Given the description of an element on the screen output the (x, y) to click on. 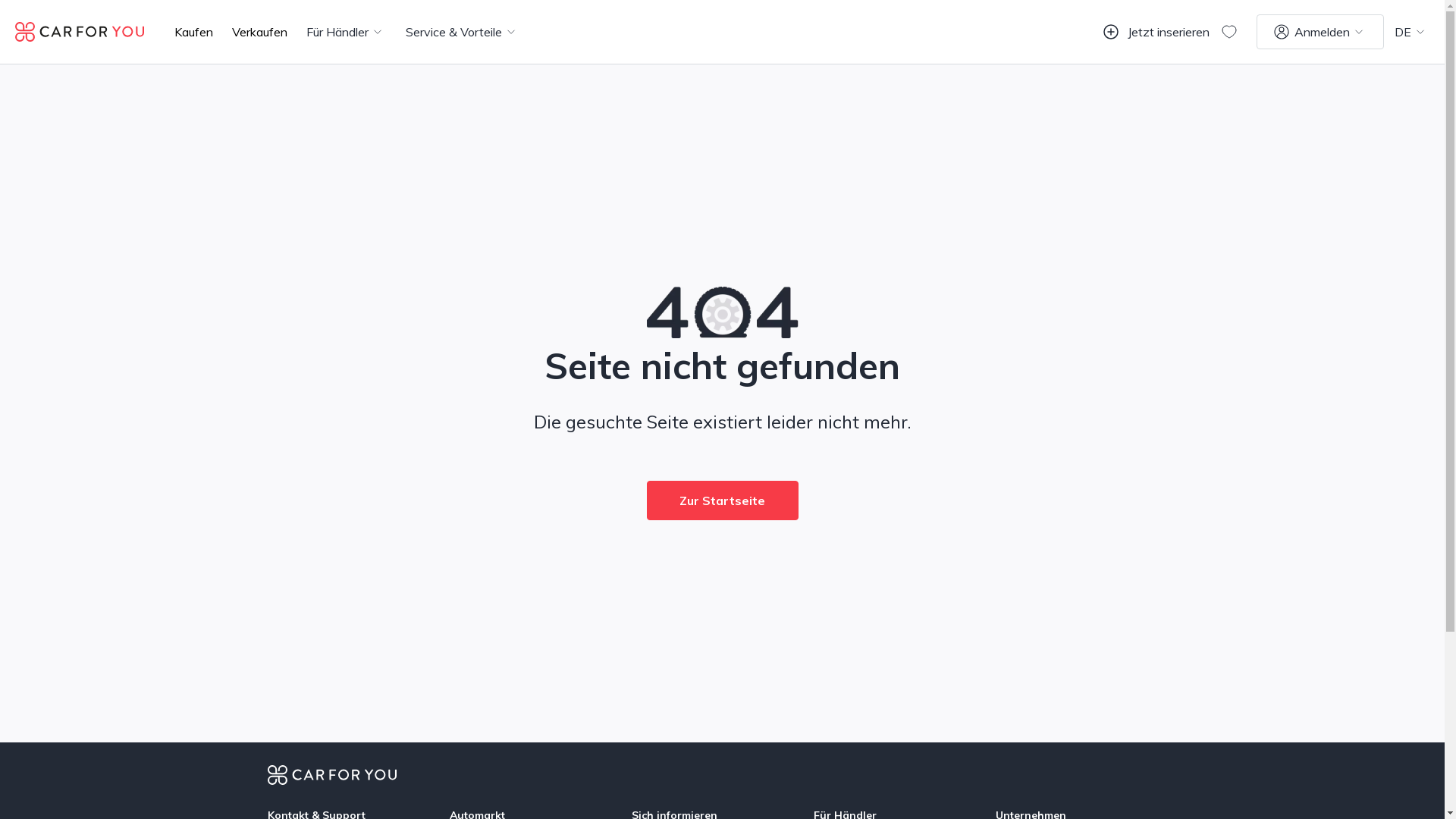
Kaufen Element type: text (193, 31)
logoredblack icon Element type: text (79, 29)
Zur Startseite Element type: text (721, 500)
Jetzt inserieren Element type: text (1155, 31)
Verkaufen Element type: text (259, 31)
